Given the description of an element on the screen output the (x, y) to click on. 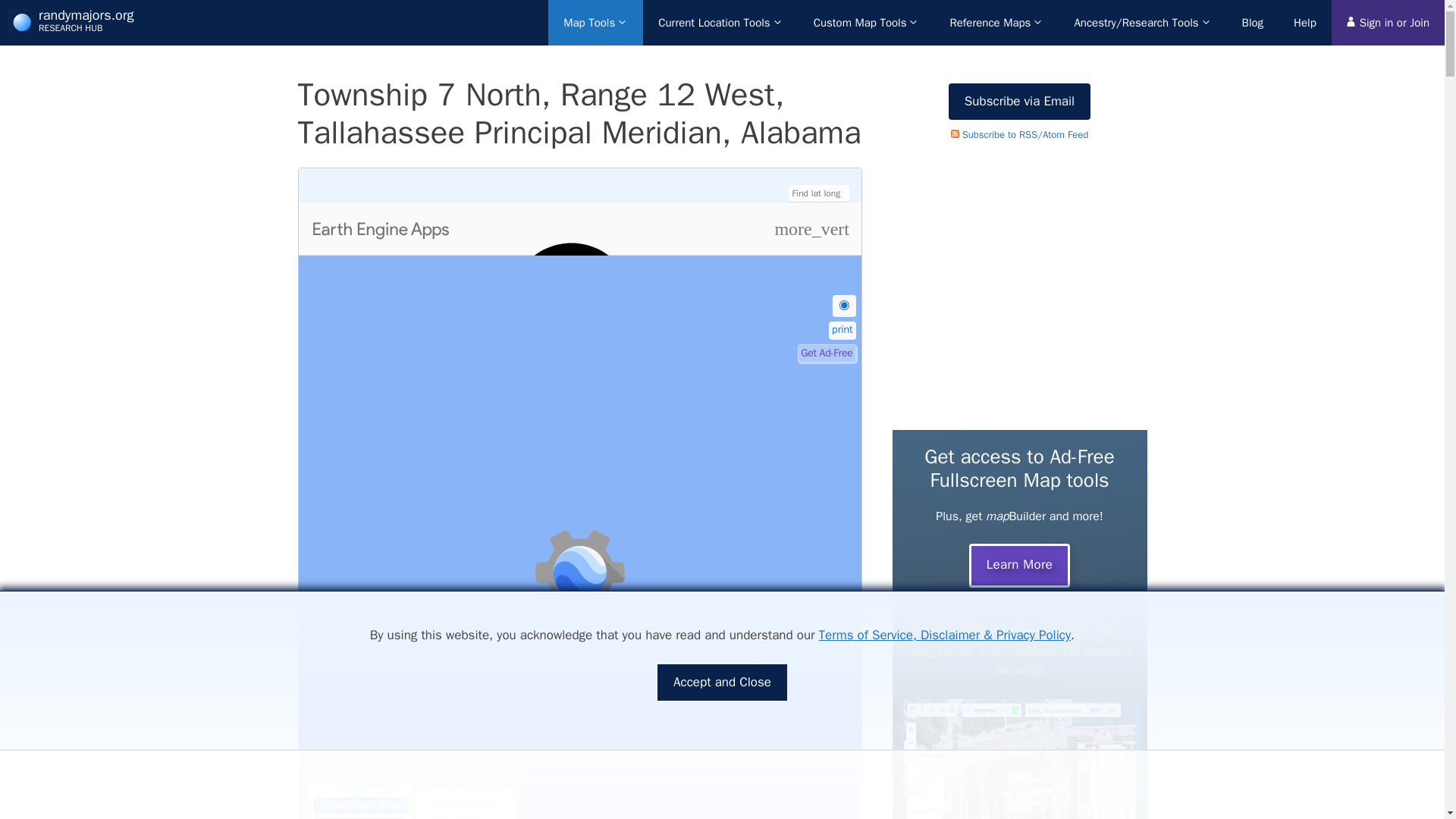
Subscribe via Email (1019, 101)
Map Tools (595, 22)
Subscribe to randymajors.org RSS feed (1018, 133)
on (427, 816)
Reference Maps (996, 22)
Print and Screenshot (842, 330)
Custom Map Tools (865, 22)
Current Location Tools (720, 22)
randymajors.org (86, 14)
randymajors.org (20, 22)
Learn More (1019, 565)
on (427, 801)
Click to Accept and Close (722, 682)
Use Current Location (844, 305)
Accept and Close (722, 682)
